Given the description of an element on the screen output the (x, y) to click on. 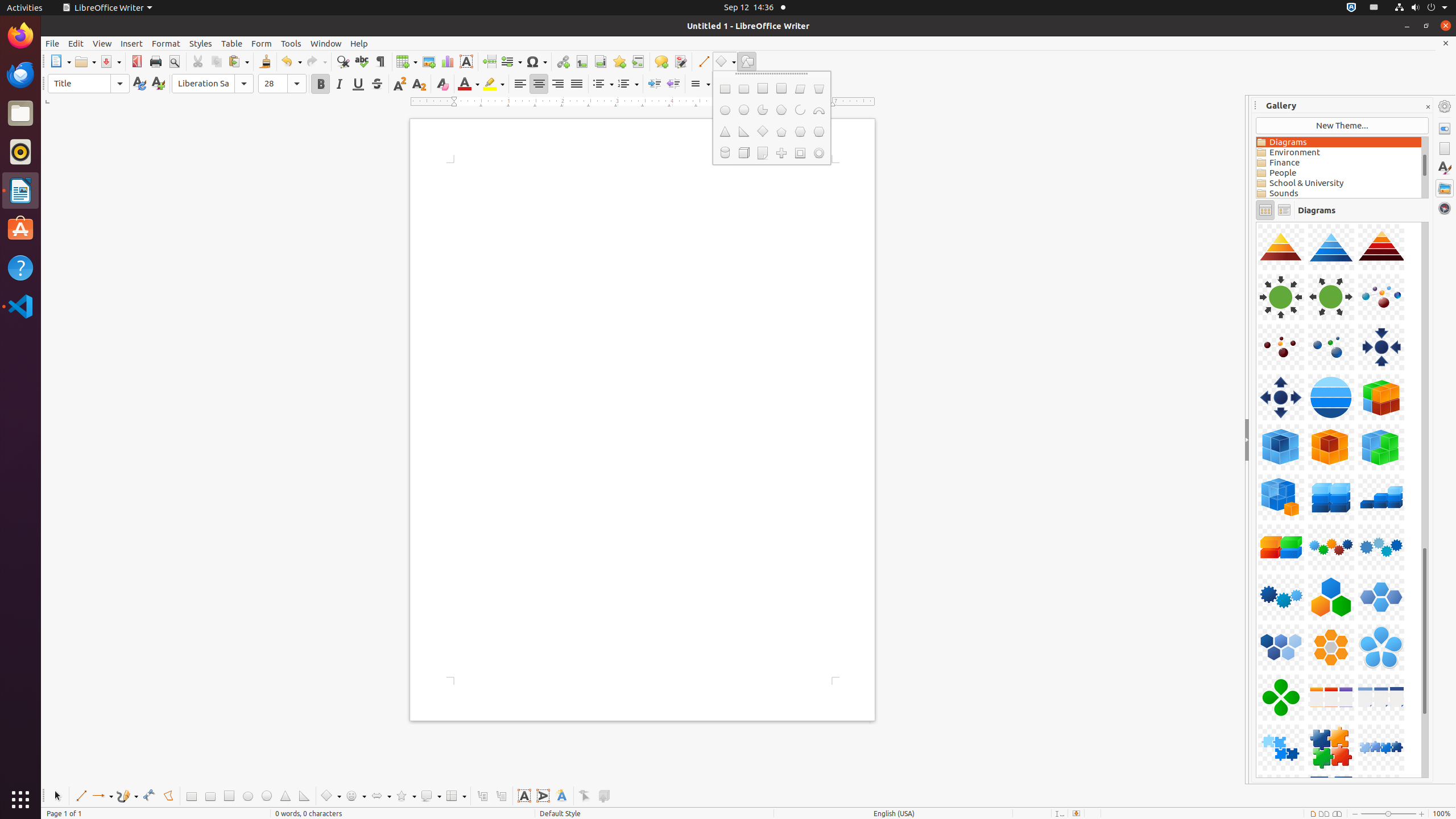
Component-Sphere04-DarkRed Element type: list-item (1256, 222)
Finance Element type: list-item (1338, 162)
Ubuntu Software Element type: push-button (20, 229)
File Element type: menu (51, 43)
Component-Person05-Orange Element type: list-item (1256, 222)
